Given the description of an element on the screen output the (x, y) to click on. 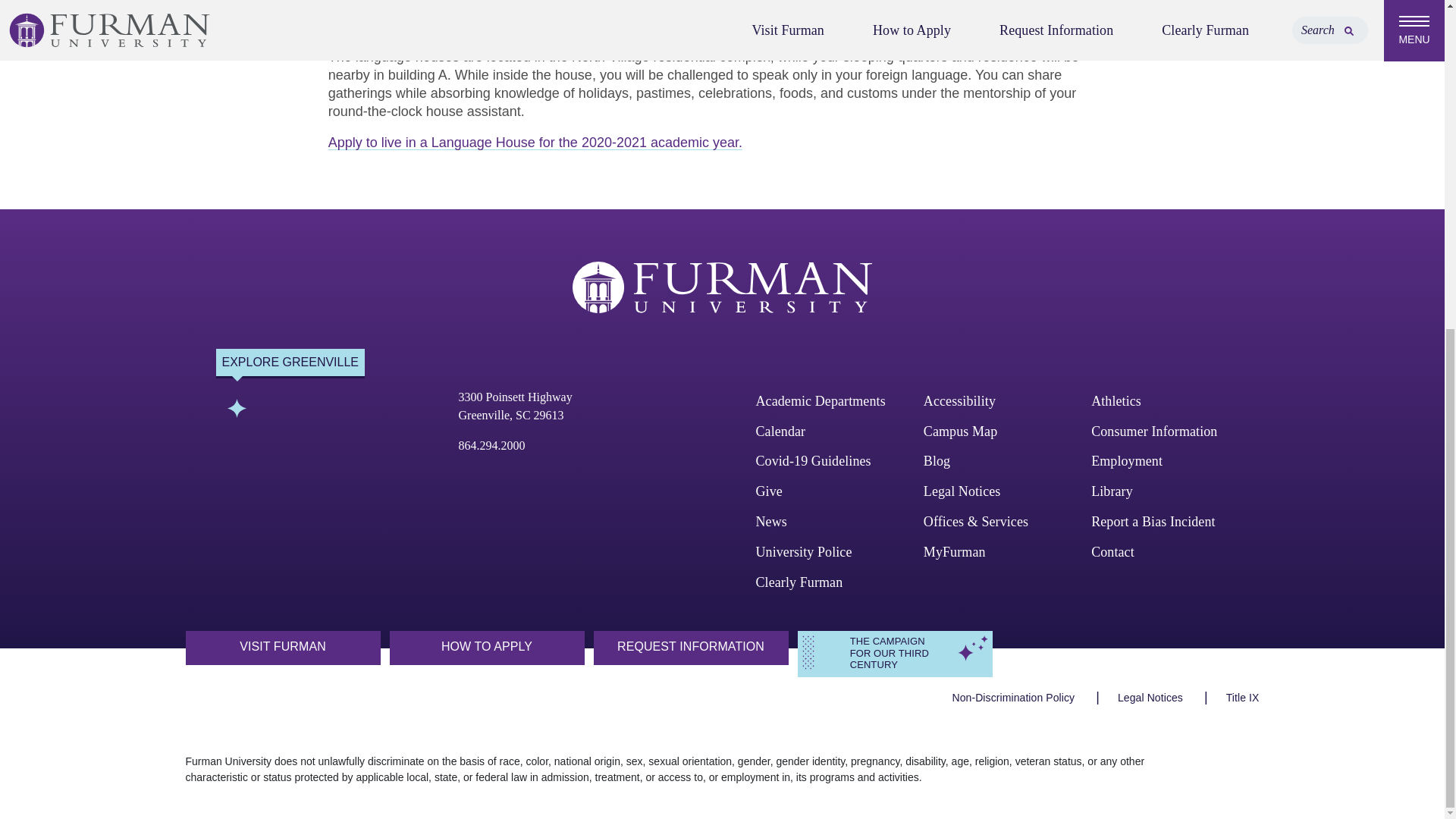
Consumer Information (1153, 431)
Calendar (780, 431)
Campus Map (960, 431)
864.294.2000 (491, 445)
Academic Departments (820, 400)
Accessibility (515, 405)
Athletics (959, 400)
